Given the description of an element on the screen output the (x, y) to click on. 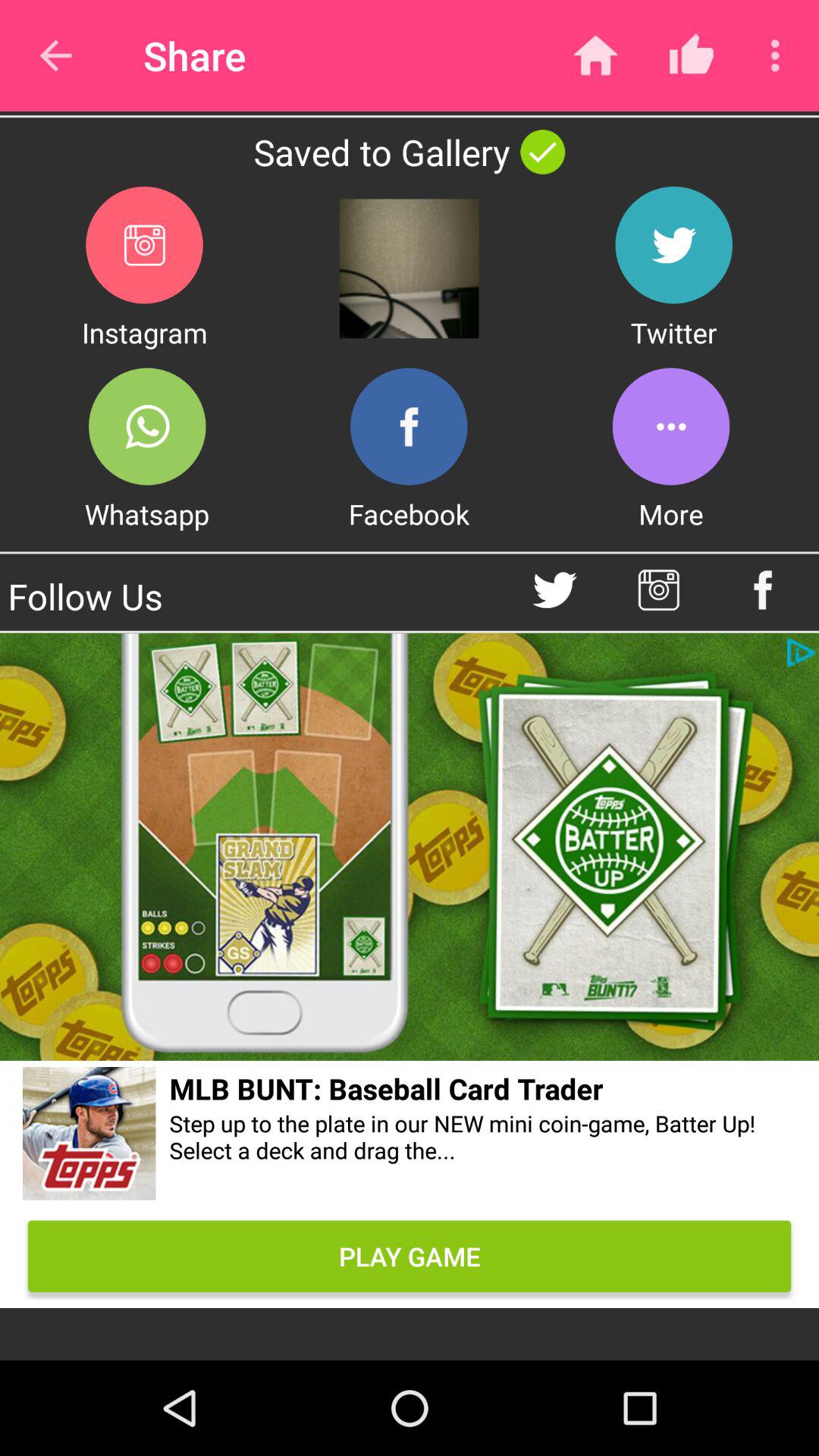
share on facebook (408, 426)
